Given the description of an element on the screen output the (x, y) to click on. 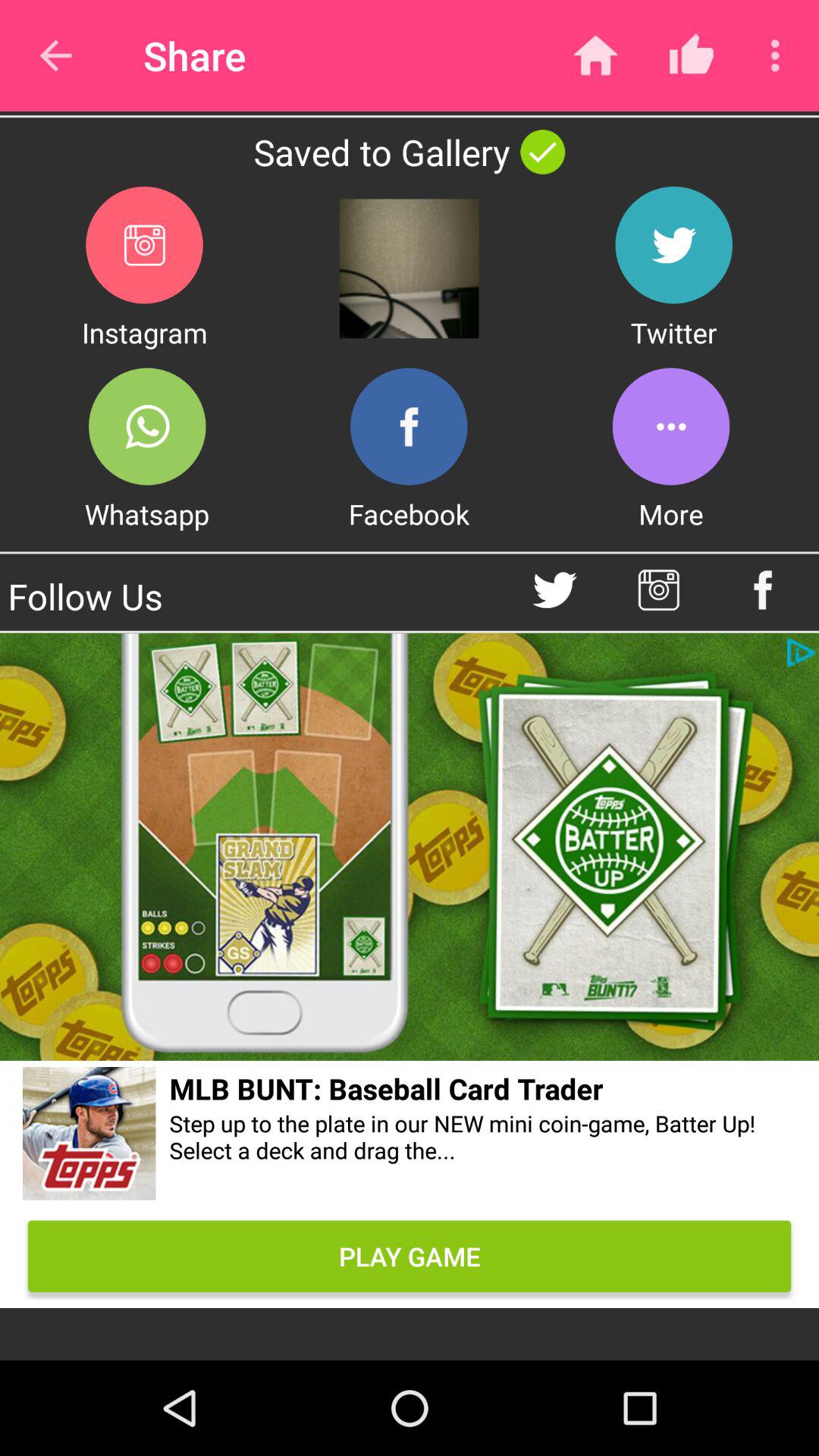
share on facebook (408, 426)
